Given the description of an element on the screen output the (x, y) to click on. 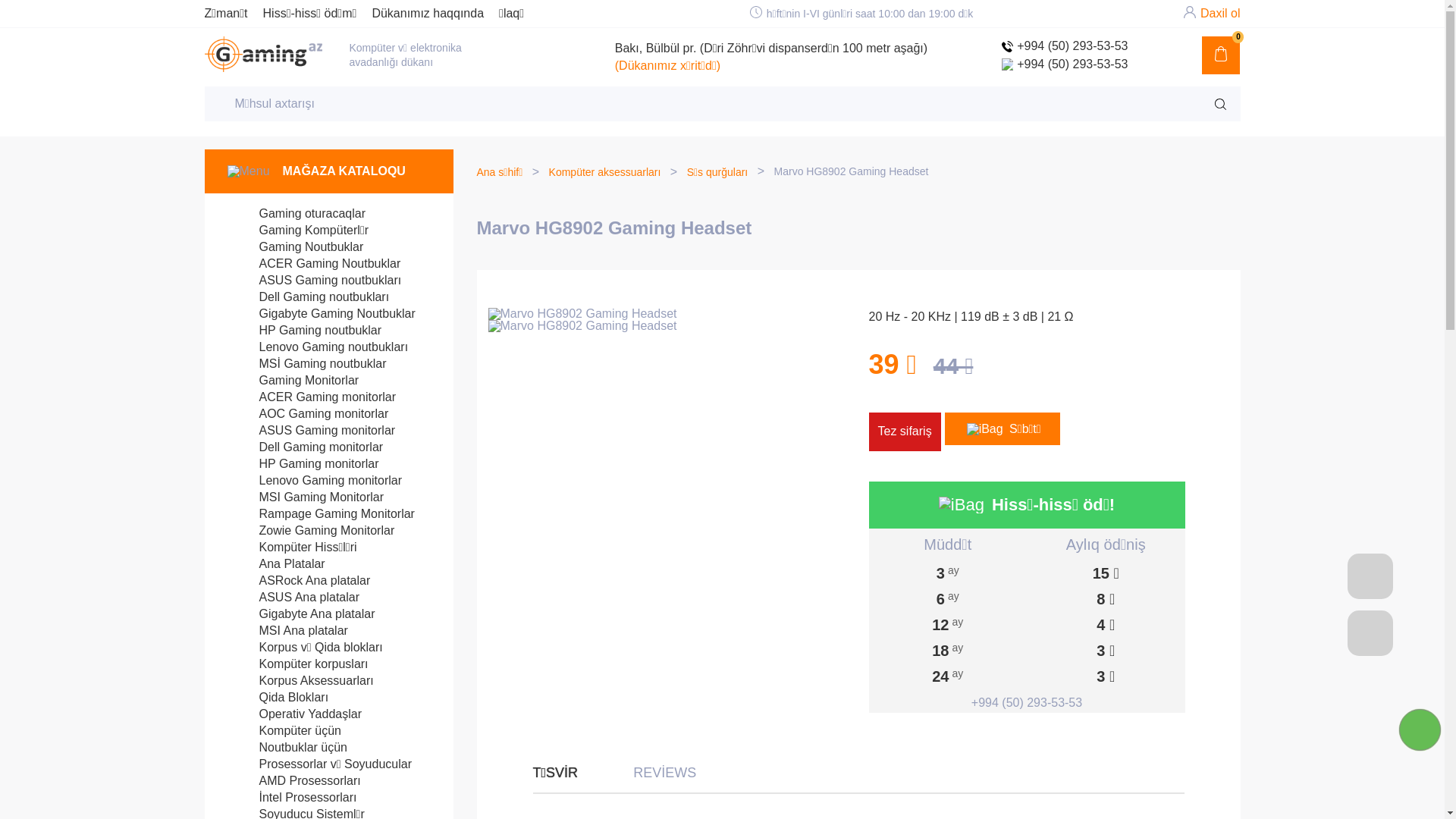
Rampage Gaming Monitorlar Element type: text (320, 513)
+994 (50) 293-53-53 Element type: text (1064, 46)
Zowie Gaming Monitorlar Element type: text (310, 530)
Gaming Noutbuklar Element type: text (295, 246)
ACER Gaming monitorlar Element type: text (311, 396)
AOC Gaming monitorlar Element type: text (307, 413)
Gaming Monitorlar Element type: text (293, 380)
HP Gaming noutbuklar Element type: text (304, 330)
Gaming oturacaqlar Element type: text (296, 213)
ASUS Gaming monitorlar Element type: text (311, 430)
Gigabyte Gaming Noutbuklar Element type: text (321, 313)
MSI Gaming Monitorlar Element type: text (305, 496)
Lenovo Gaming monitorlar Element type: text (314, 480)
Daxil ol Element type: text (1219, 12)
HP Gaming monitorlar Element type: text (302, 463)
Gigabyte Ana platalar Element type: text (301, 613)
MSI Ana platalar Element type: text (287, 630)
Dell Gaming monitorlar Element type: text (305, 446)
ASRock Ana platalar Element type: text (298, 580)
+994 (50) 293-53-53 Element type: text (1064, 64)
Ana Platalar Element type: text (276, 563)
ASUS Ana platalar Element type: text (293, 597)
ACER Gaming Noutbuklar Element type: text (313, 263)
